Given the description of an element on the screen output the (x, y) to click on. 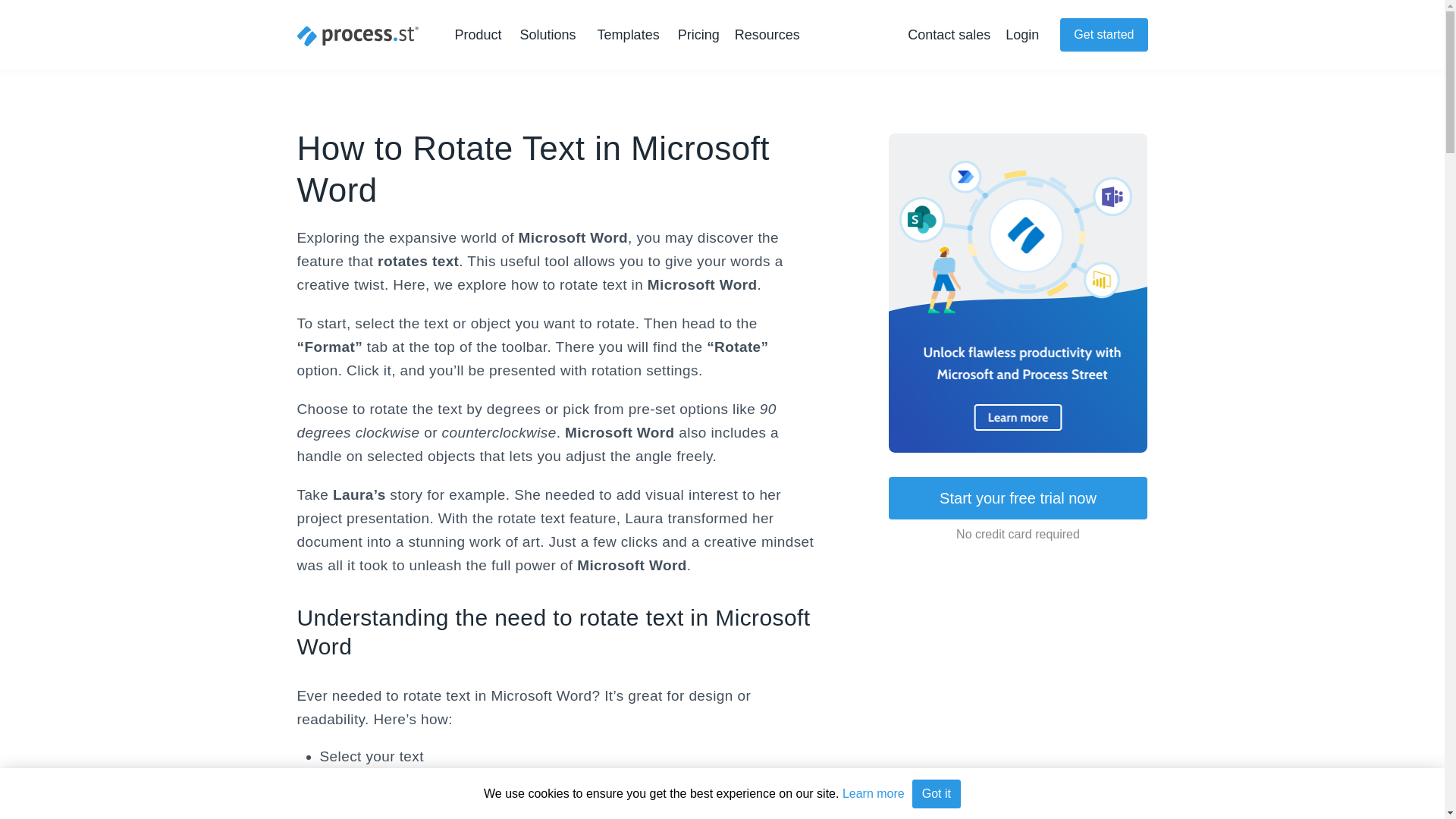
Pricing (698, 34)
Process Street (358, 35)
Resources (770, 34)
Templates (627, 34)
Solutions (550, 34)
Contact sales (948, 34)
Product (481, 34)
Login (1022, 34)
Get started (1103, 34)
